Given the description of an element on the screen output the (x, y) to click on. 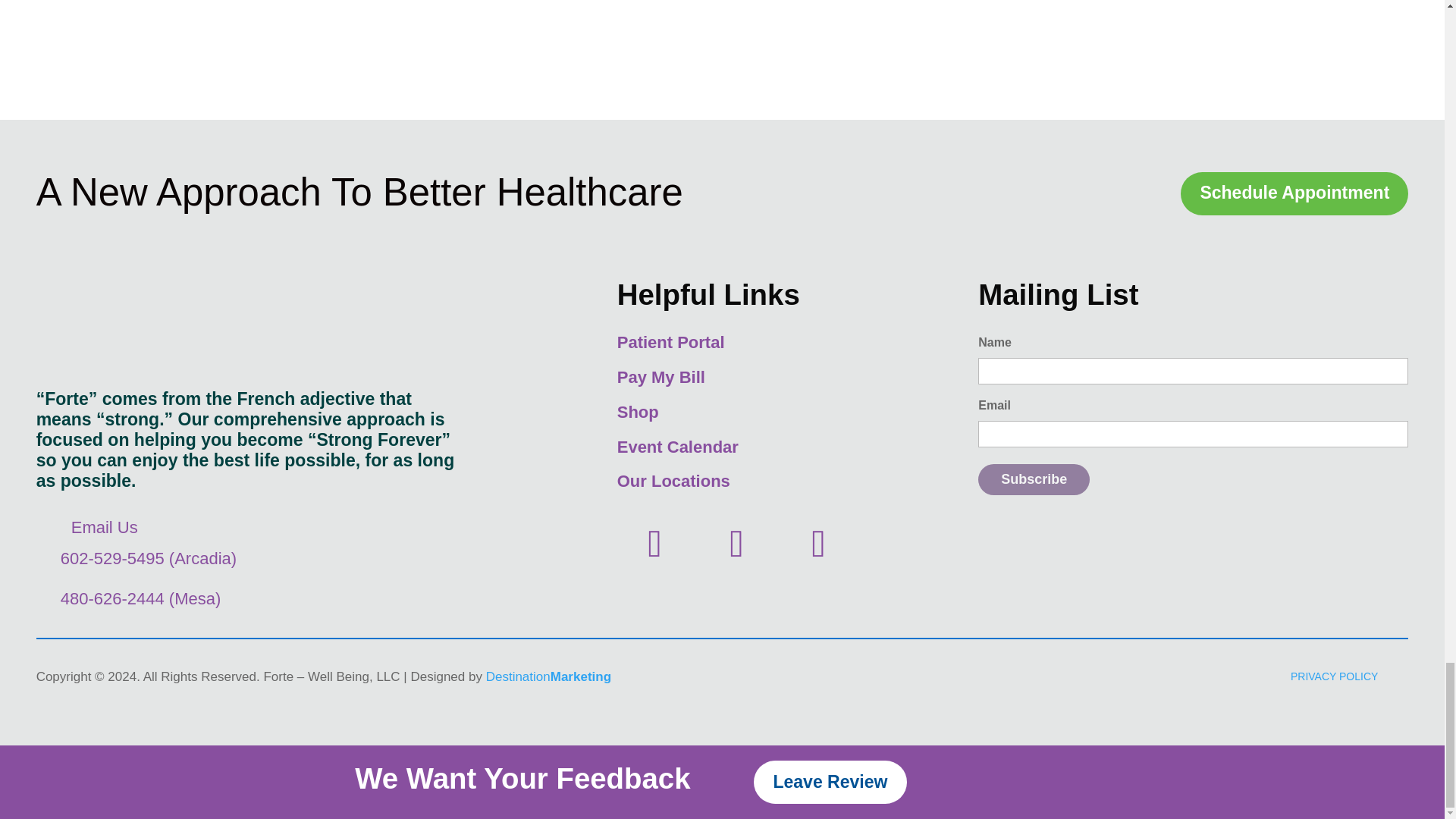
appl (796, 57)
Follow on Youtube (655, 543)
and (637, 57)
Follow on Facebook (818, 543)
Group 126 (221, 323)
Subscribe (1033, 479)
Follow on Instagram (736, 543)
